Given the description of an element on the screen output the (x, y) to click on. 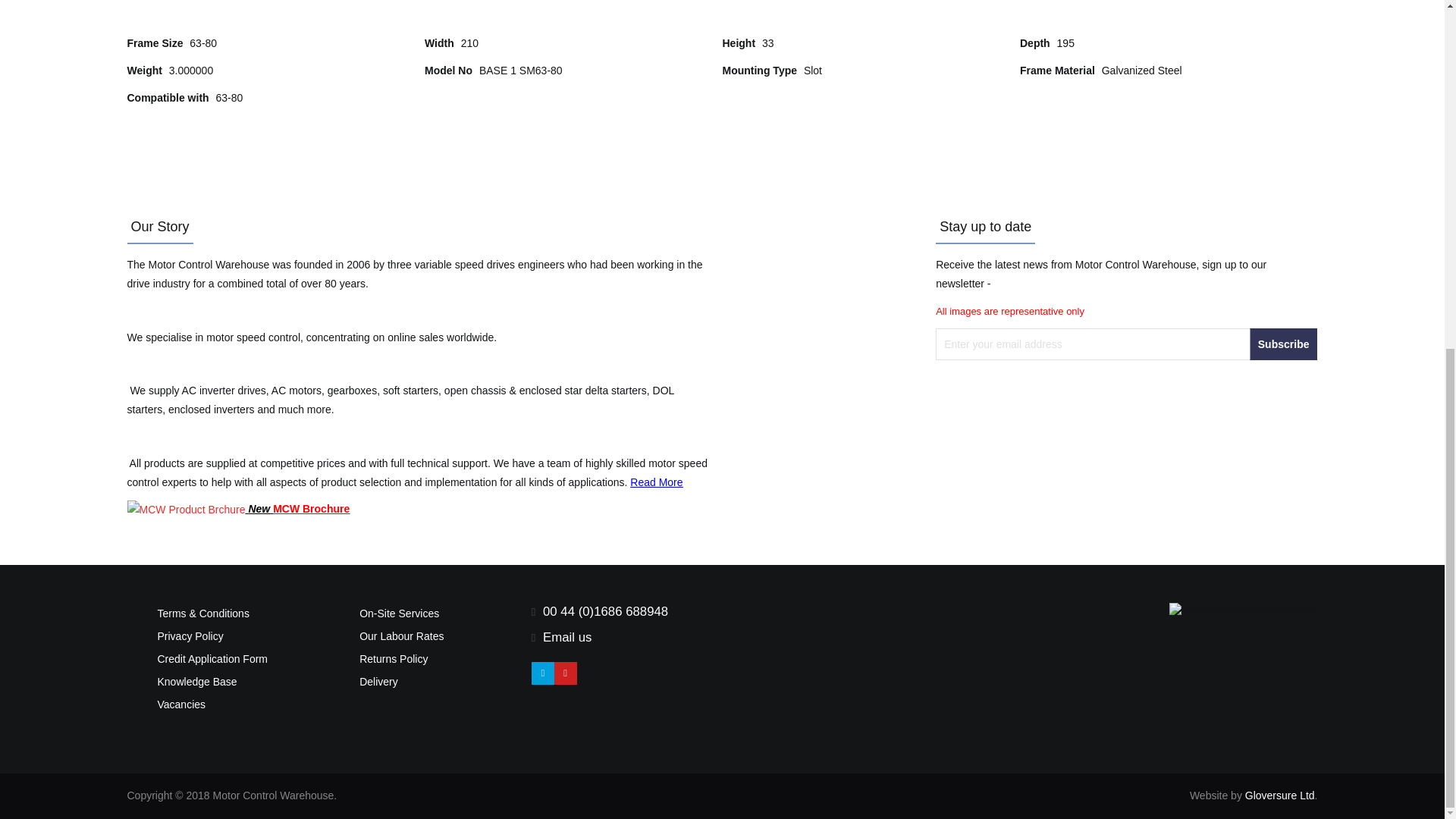
Privacy Policy (190, 635)
New MCW Brochure (239, 508)
Subscribe (1283, 344)
Knowledge Base (197, 681)
MCW Product Brchure (187, 509)
Subscribe (1283, 344)
Credit Application Form (212, 658)
Vacancies (181, 704)
Read More (656, 481)
Read More (656, 481)
MCW Product Brochure (239, 508)
Our Labour Rates (401, 635)
